Given the description of an element on the screen output the (x, y) to click on. 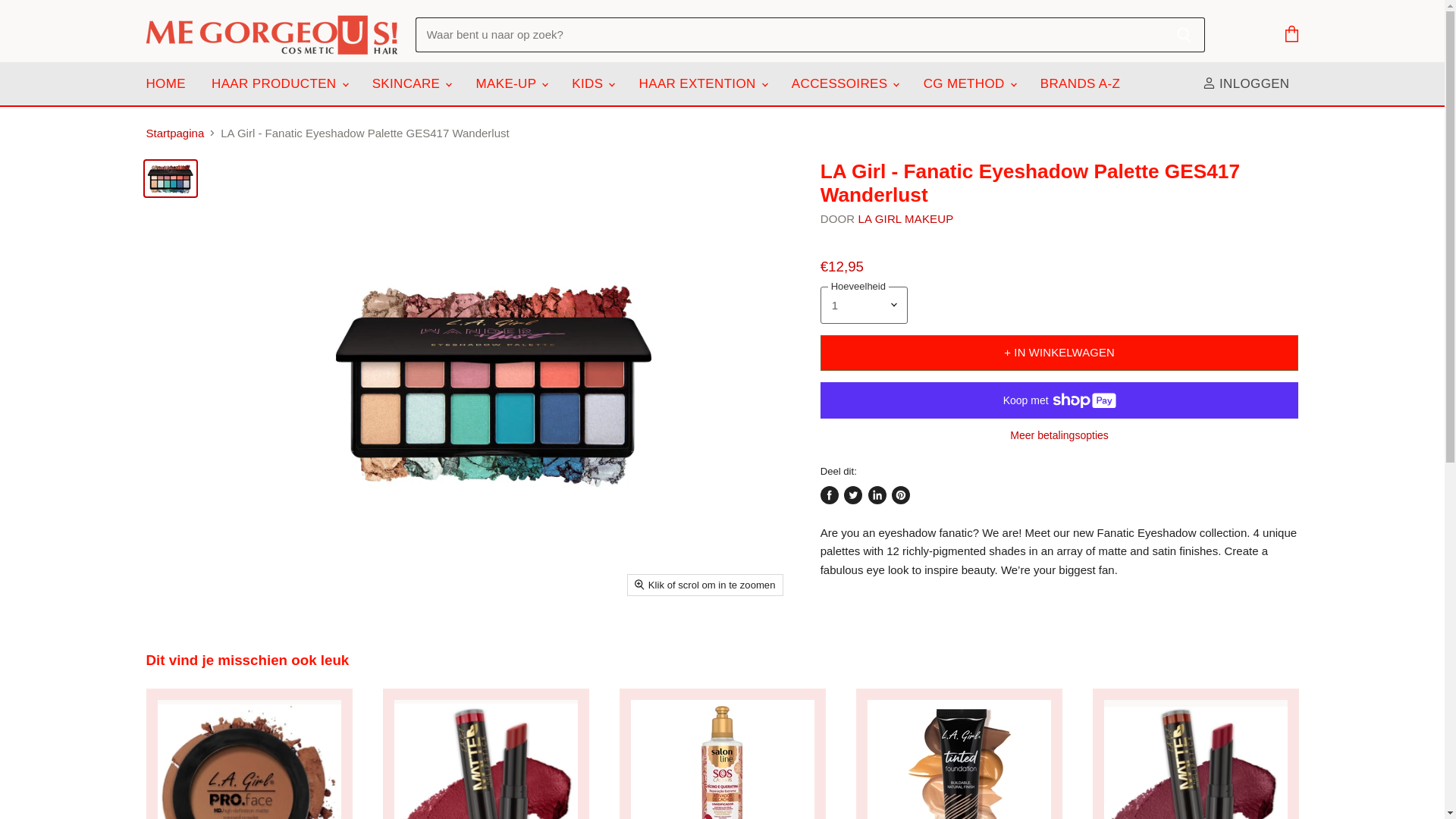
HOME (165, 83)
ACCOUNT ICOON (1208, 82)
LA Girl MakeUp (906, 218)
HAAR PRODUCTEN (278, 83)
